Given the description of an element on the screen output the (x, y) to click on. 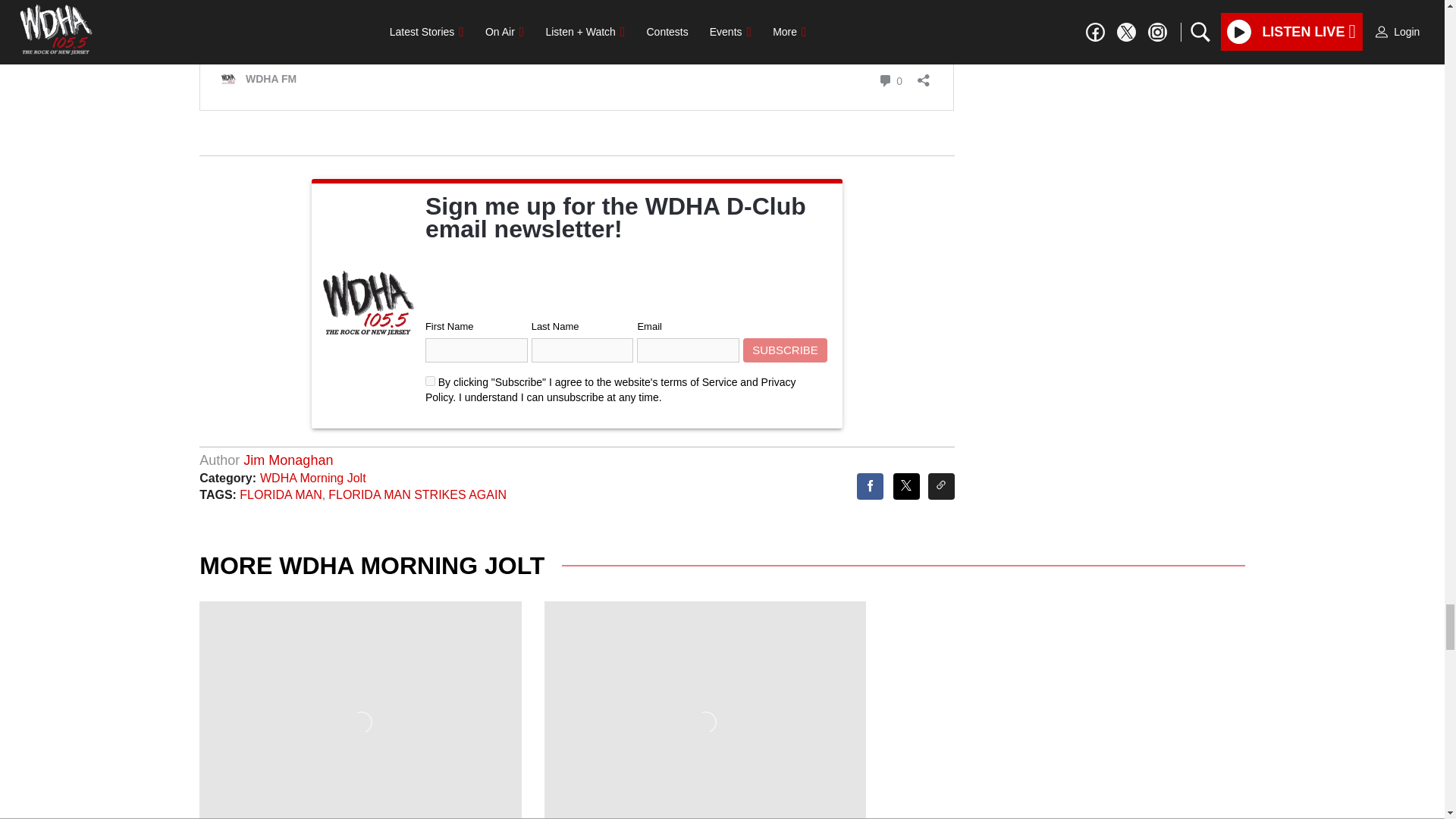
on (430, 380)
Jim Monaghan (288, 459)
